Given the description of an element on the screen output the (x, y) to click on. 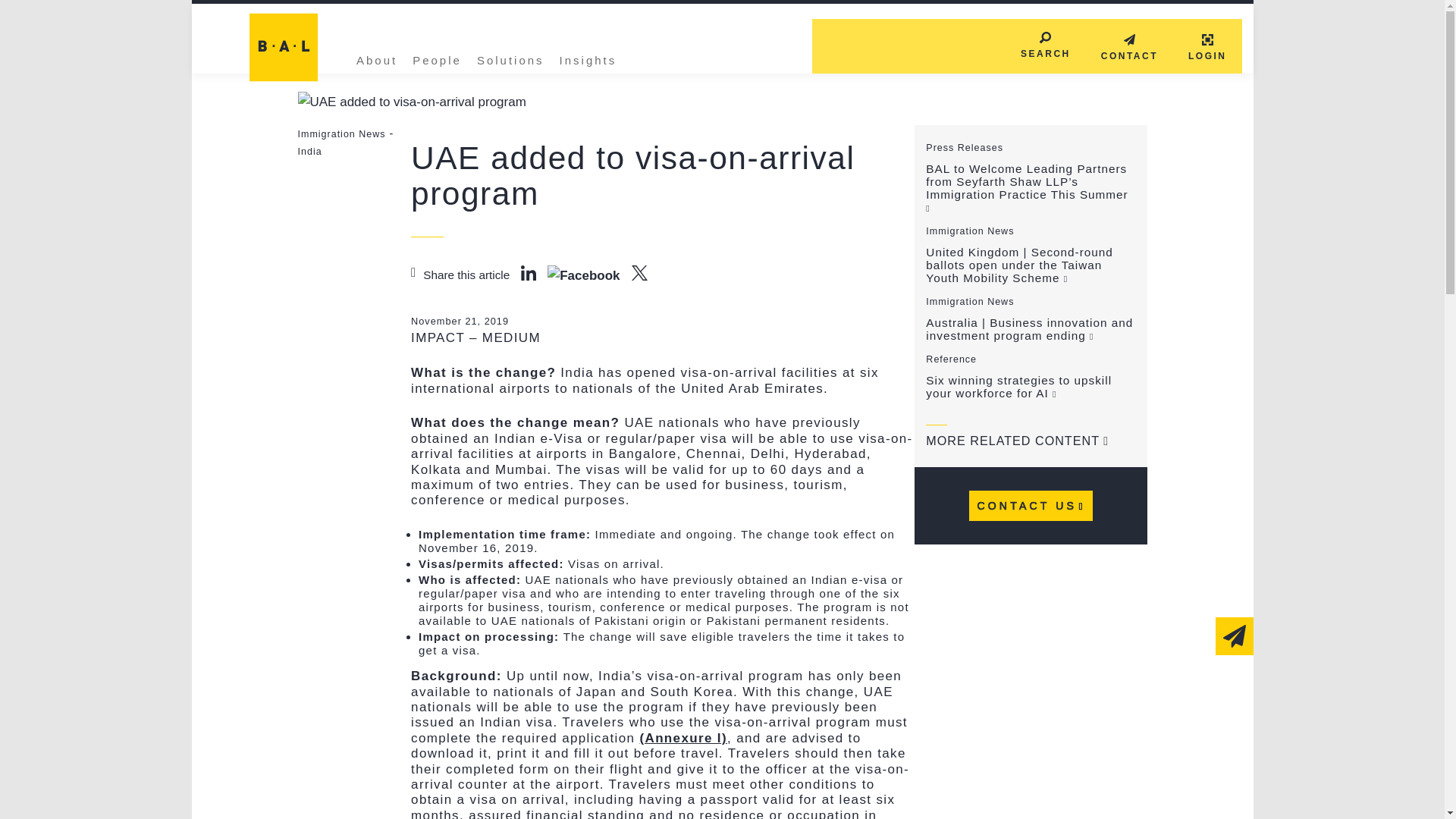
About (376, 58)
Solutions (510, 58)
Insights (588, 58)
People (437, 58)
